Given the description of an element on the screen output the (x, y) to click on. 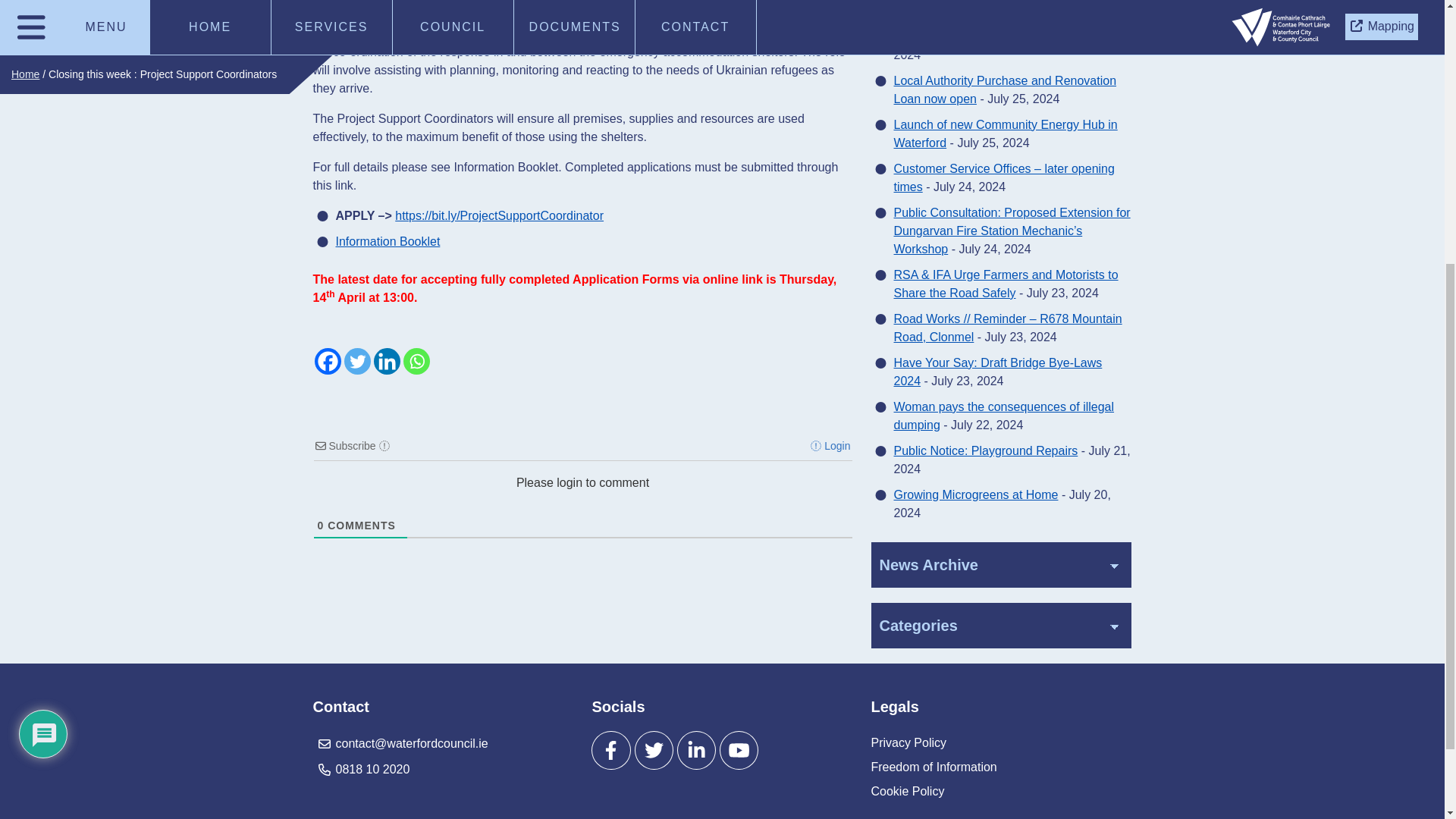
Whatsapp (416, 361)
Linkedin (385, 361)
Information Booklet (386, 241)
Twitter (357, 361)
Facebook (327, 361)
